Given the description of an element on the screen output the (x, y) to click on. 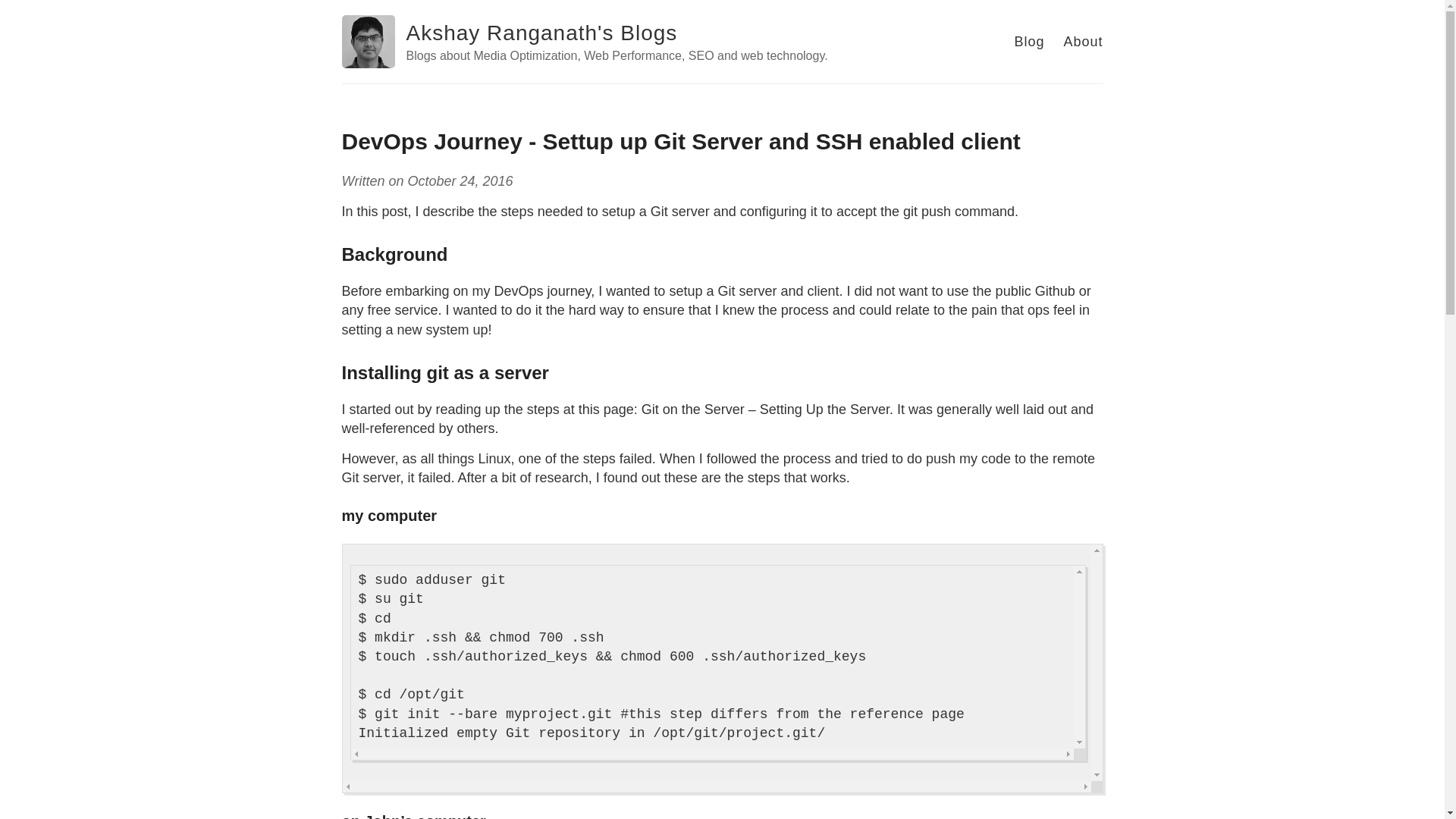
Blog (1028, 41)
About (1082, 41)
Akshay Ranganath's Blogs (542, 33)
